Given the description of an element on the screen output the (x, y) to click on. 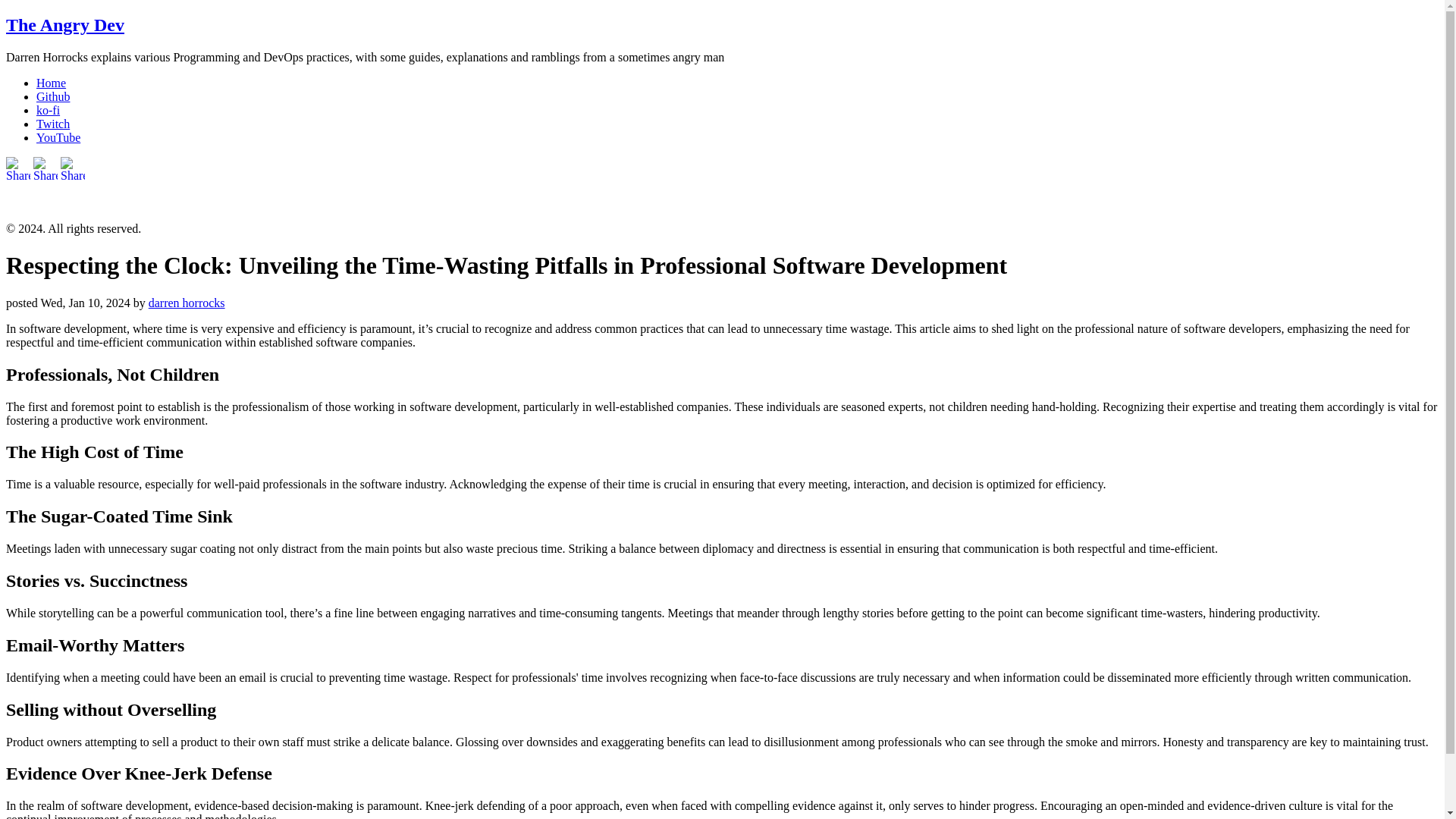
Twitch (52, 123)
ko-fi (47, 110)
Share to twitter (72, 202)
Github (52, 96)
darren horrocks (186, 302)
Home (50, 82)
Share to facebook (45, 202)
YouTube (58, 137)
Share to reddit (17, 202)
